Given the description of an element on the screen output the (x, y) to click on. 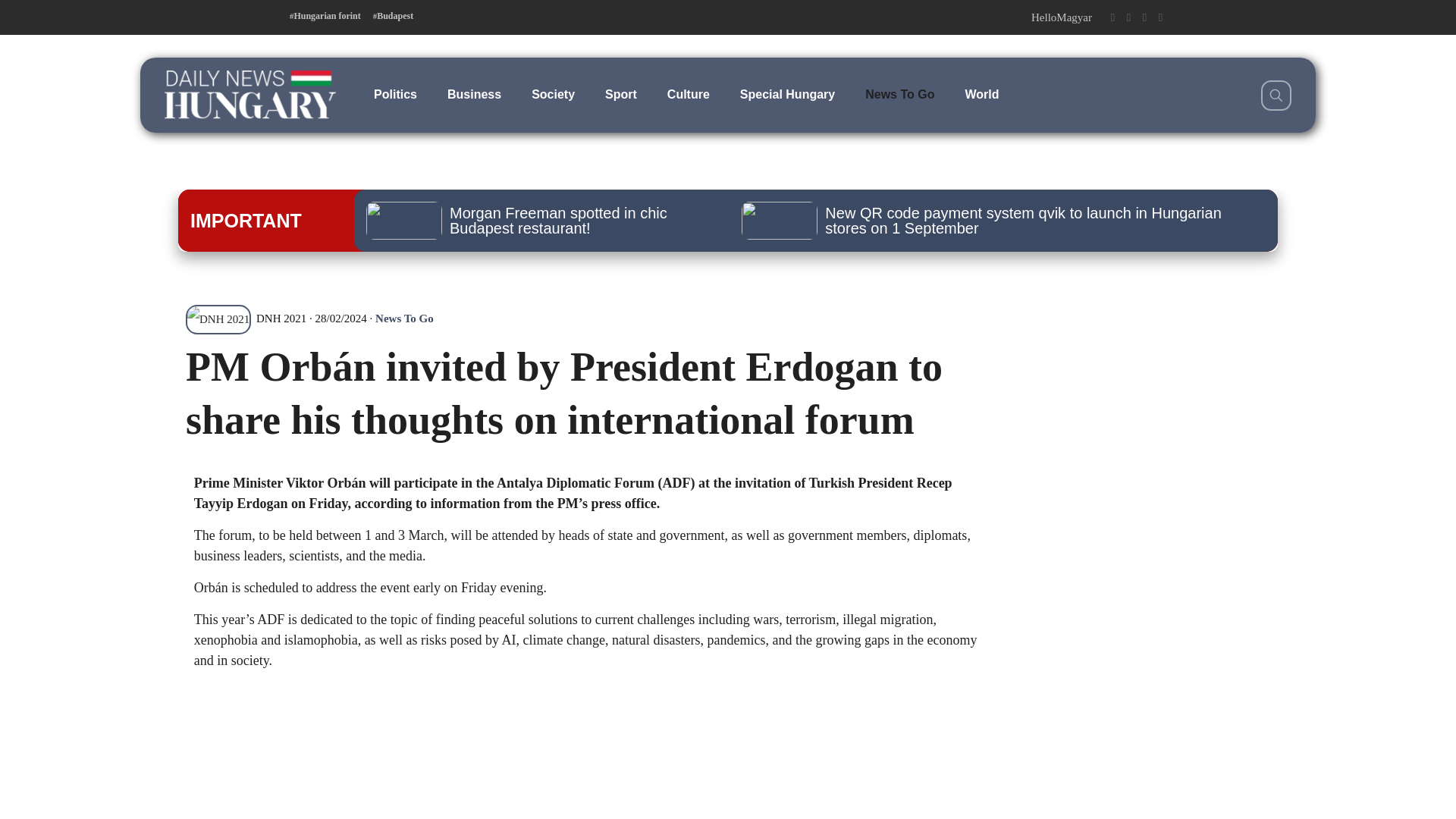
Politics (395, 94)
DNH 2021 (245, 318)
Budapest (392, 15)
News To Go (899, 94)
Morgan Freeman spotted in chic Budapest restaurant! (538, 220)
HelloMagyar (1061, 17)
RSS (1160, 17)
Business (474, 94)
Facebook (1112, 17)
Hungarian forint (325, 15)
